Given the description of an element on the screen output the (x, y) to click on. 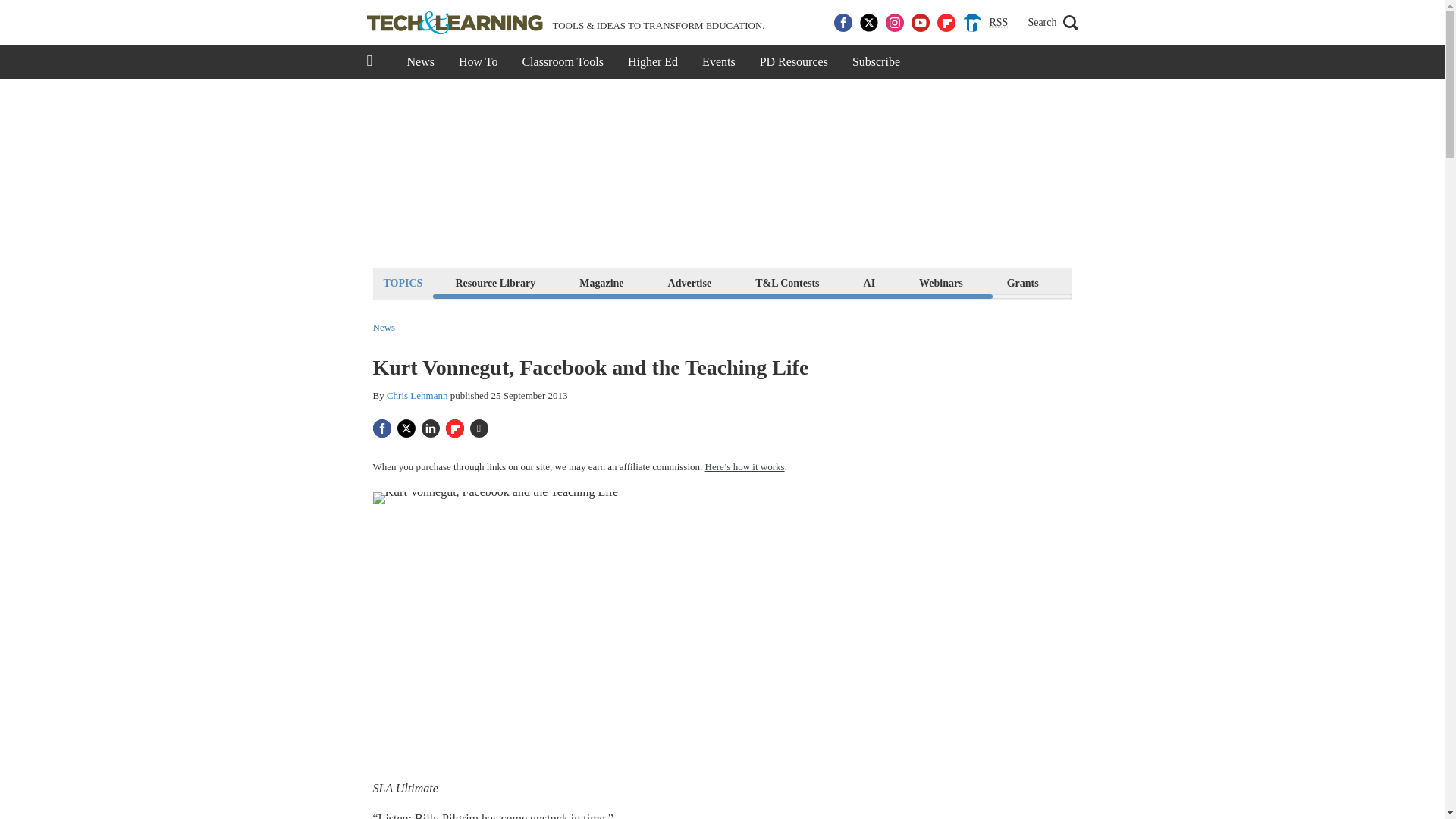
Higher Ed (652, 61)
Subscribe (876, 61)
How To (477, 61)
AI (869, 282)
Chris Lehmann (417, 395)
Magazine (600, 282)
RSS (997, 22)
Classroom Tools (561, 61)
What to Buy (1111, 282)
Advertise (689, 282)
Really Simple Syndication (997, 21)
Events (719, 61)
Grants (1022, 282)
PD Resources (794, 61)
News (419, 61)
